Given the description of an element on the screen output the (x, y) to click on. 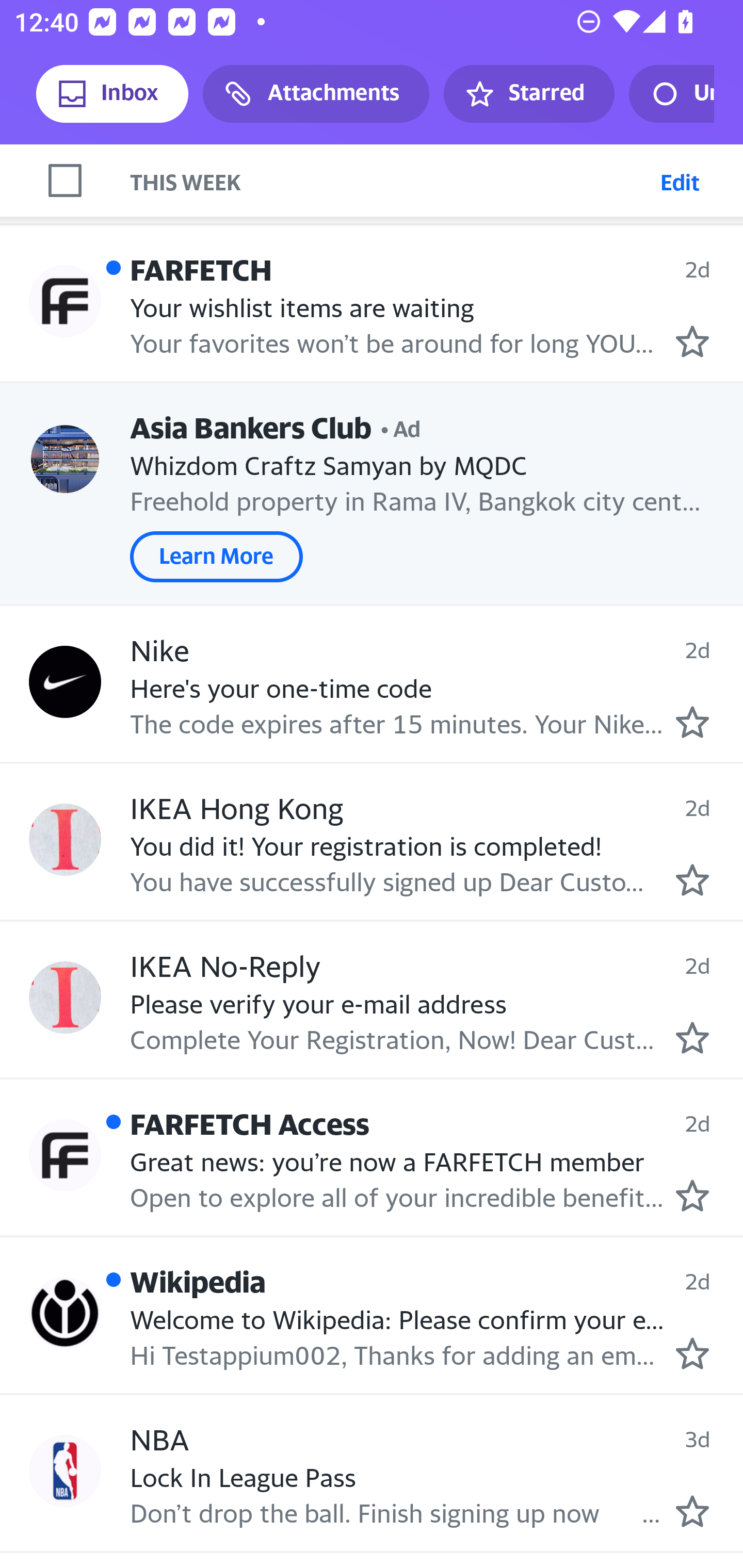
Attachments (315, 93)
Starred (528, 93)
Unread (671, 93)
Profile
FARFETCH (64, 300)
Mark as starred. (692, 341)
Profile
Nike (64, 682)
Mark as starred. (692, 722)
Profile
IKEA Hong Kong (64, 839)
Mark as starred. (692, 880)
Profile
IKEA No-Reply (64, 997)
Mark as starred. (692, 1037)
Profile
FARFETCH Access (64, 1155)
Mark as starred. (692, 1195)
Profile
Wikipedia (64, 1313)
Mark as starred. (692, 1353)
Profile
NBA (64, 1470)
Mark as starred. (692, 1510)
